Given the description of an element on the screen output the (x, y) to click on. 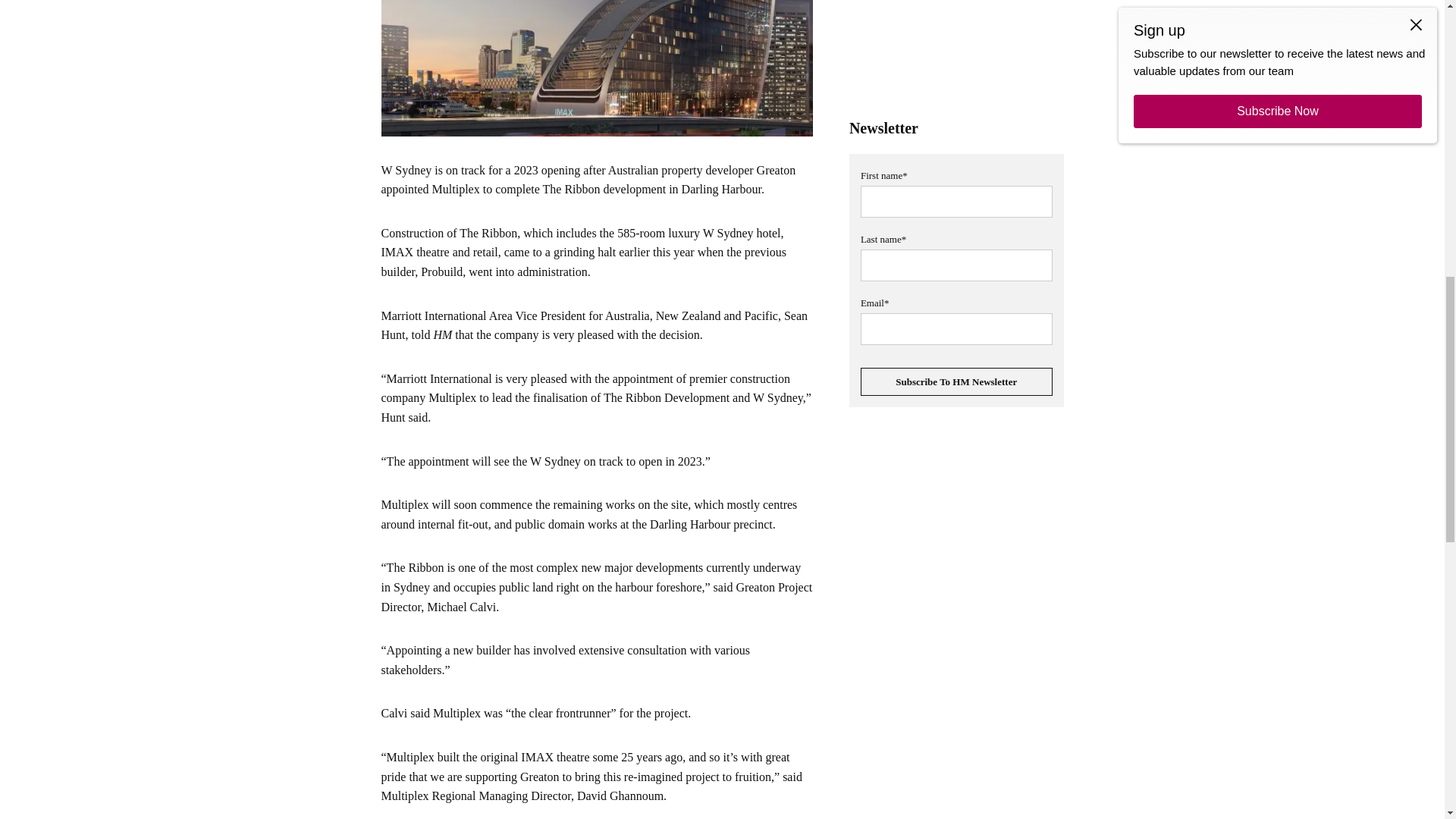
3rd party ad content (956, 48)
3rd party ad content (956, 624)
Subscribe to HM Newsletter (956, 381)
